Given the description of an element on the screen output the (x, y) to click on. 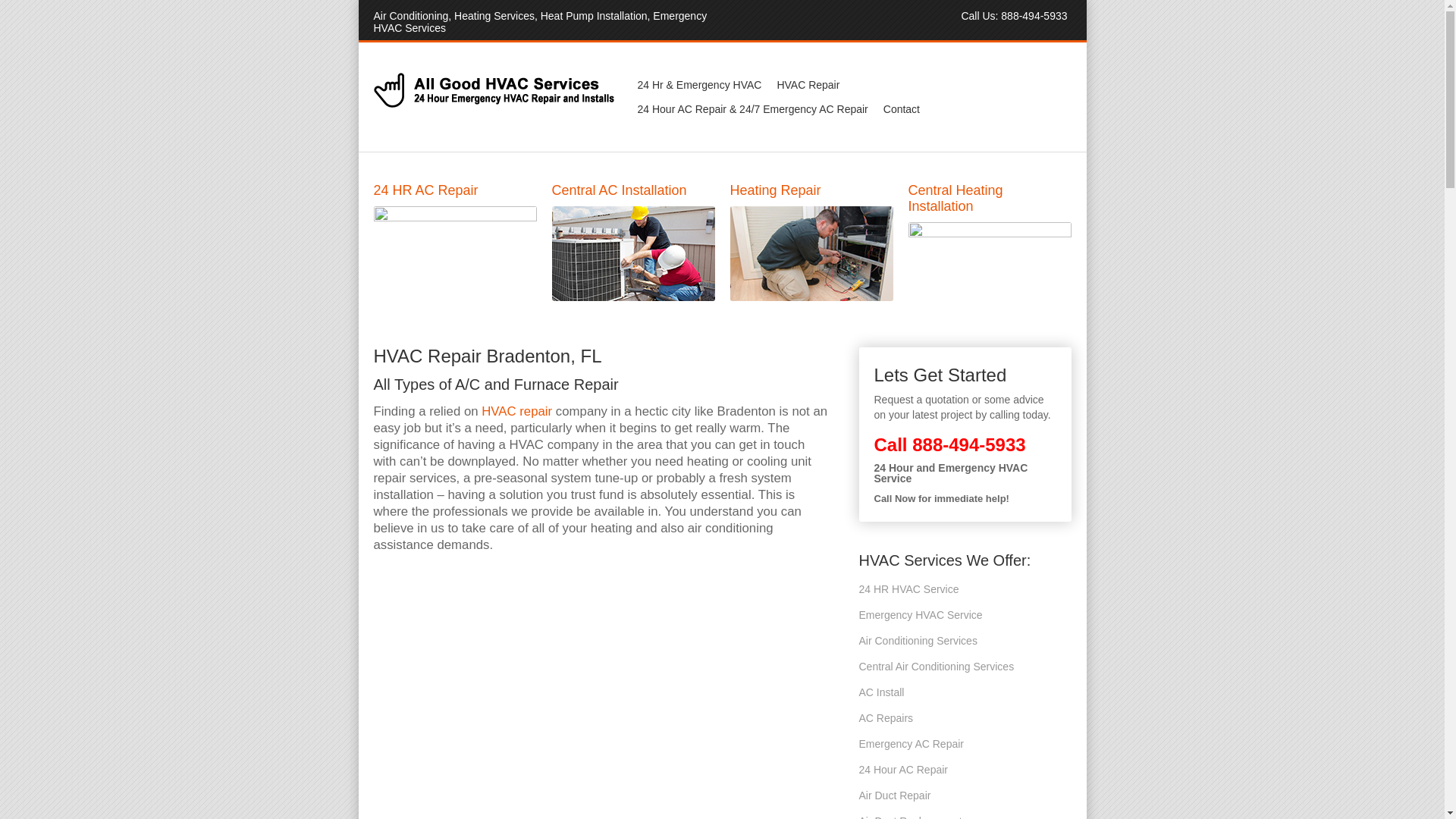
888-494-5933 (968, 444)
Central Heating Installation (600, 692)
HVAC Repair (807, 84)
HVAC repair (516, 411)
Contact (901, 109)
888-494-5933 (1034, 15)
